Given the description of an element on the screen output the (x, y) to click on. 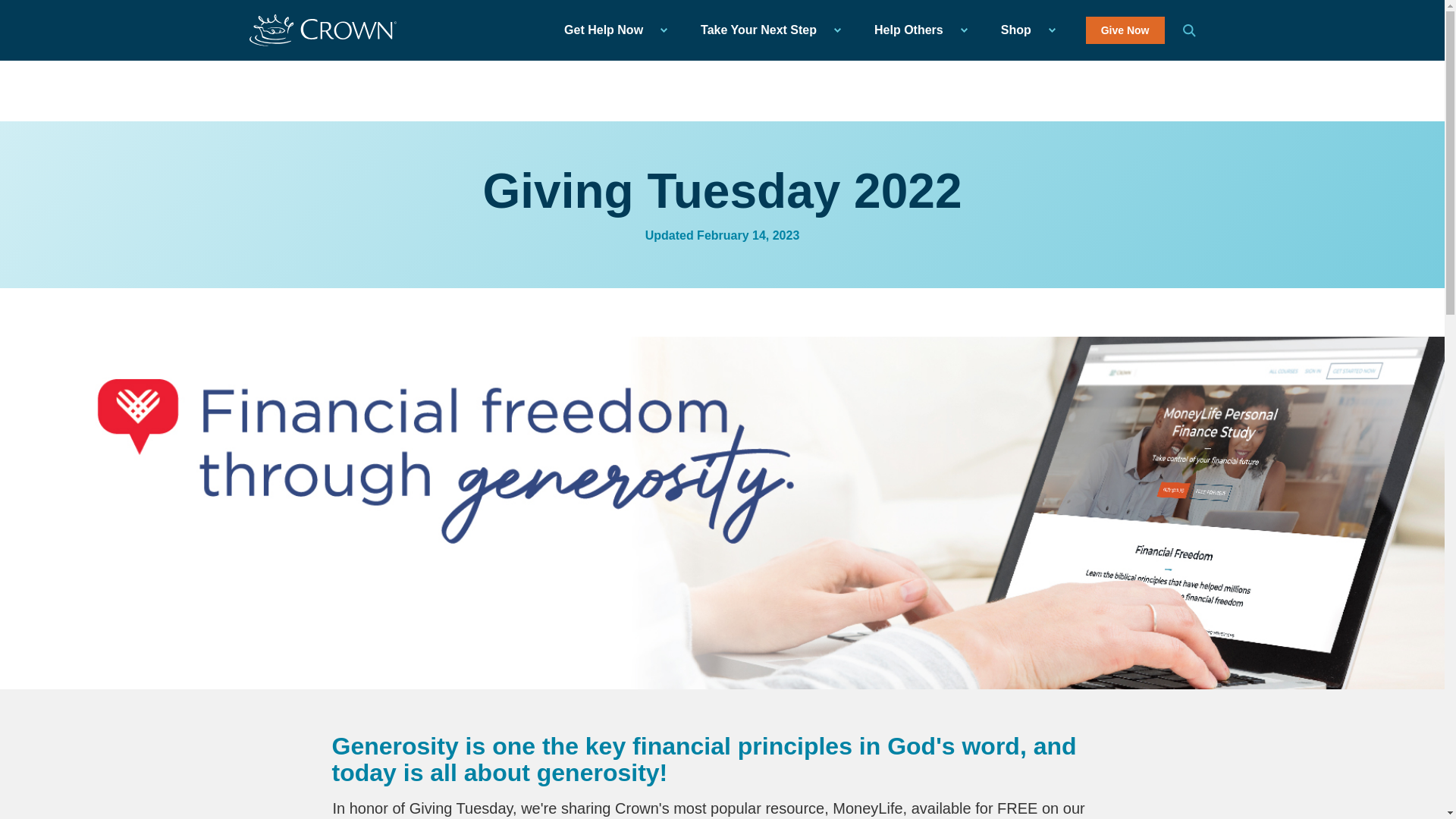
Crown Logo 2021 H White 2023 (322, 29)
Get Help Now (611, 30)
Shop (1023, 30)
Take Your Next Step (766, 30)
Give Now (1125, 30)
Help Others (916, 30)
Search (1188, 30)
